Given the description of an element on the screen output the (x, y) to click on. 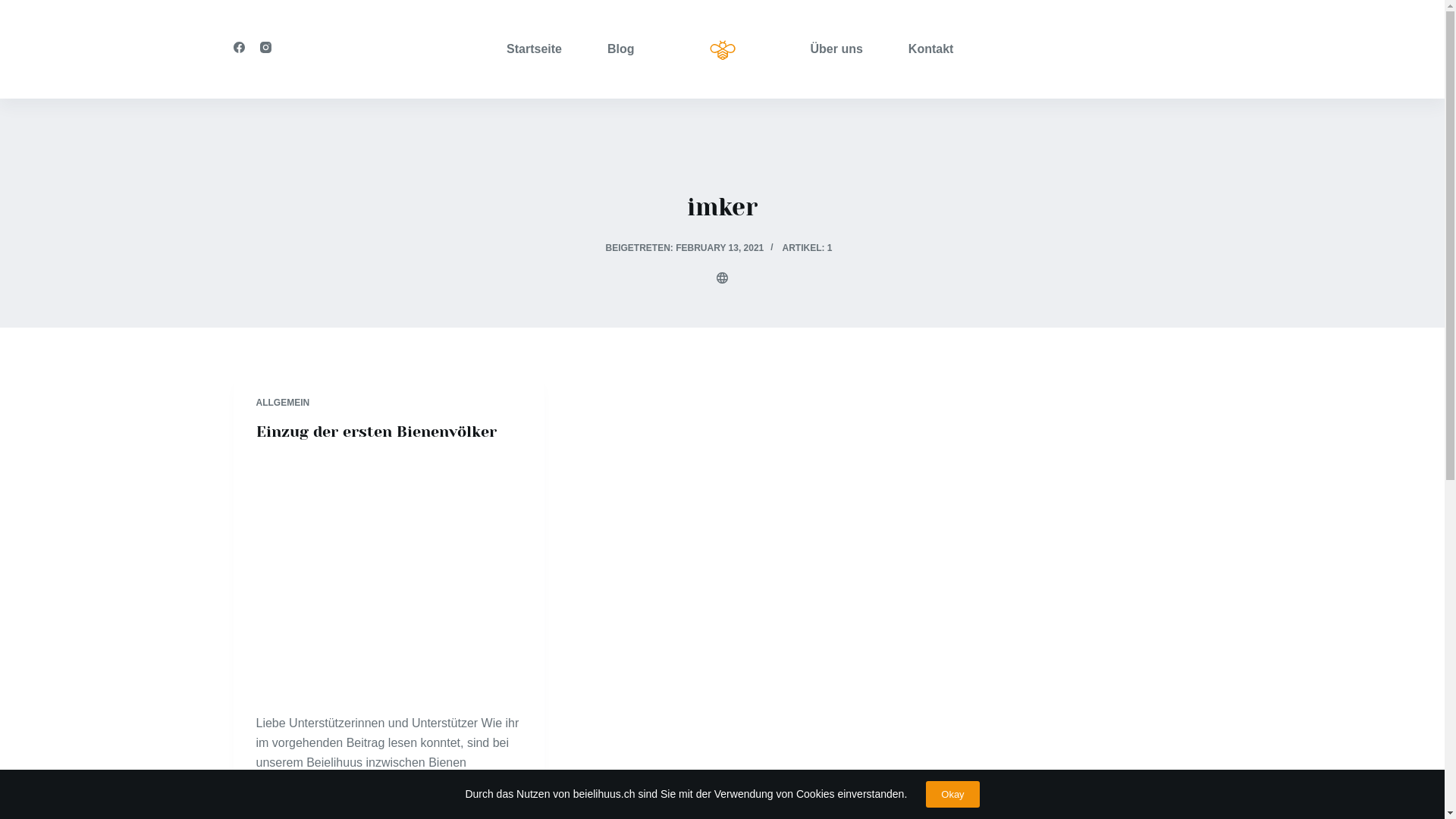
Blog Element type: text (609, 49)
Kontakt Element type: text (919, 49)
Startseite Element type: text (545, 49)
Okay Element type: text (952, 794)
Zum Inhalt springen Element type: text (15, 7)
ALLGEMEIN Element type: text (283, 402)
